Given the description of an element on the screen output the (x, y) to click on. 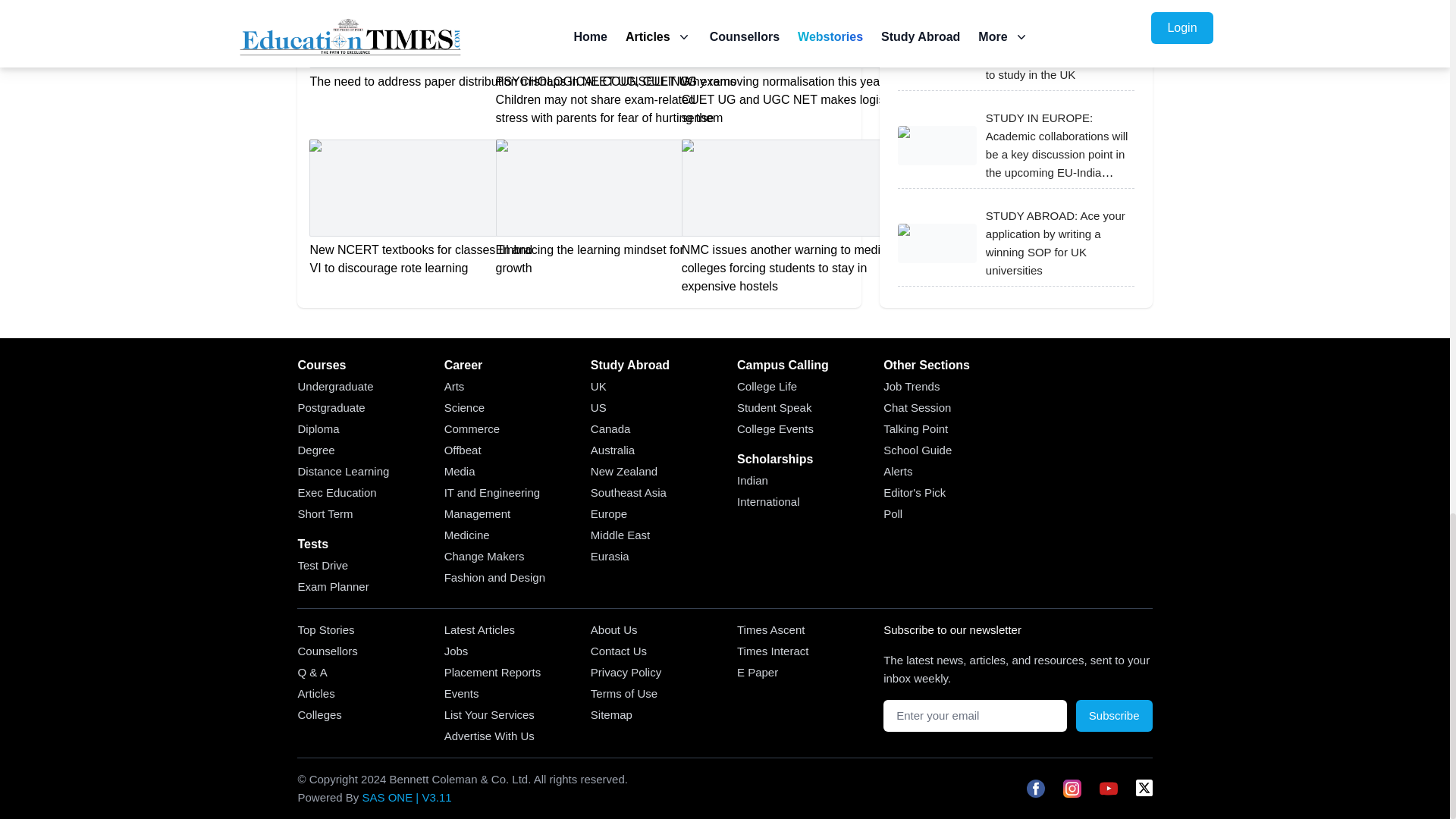
Embracing the learning mindset for growth (609, 208)
